Given the description of an element on the screen output the (x, y) to click on. 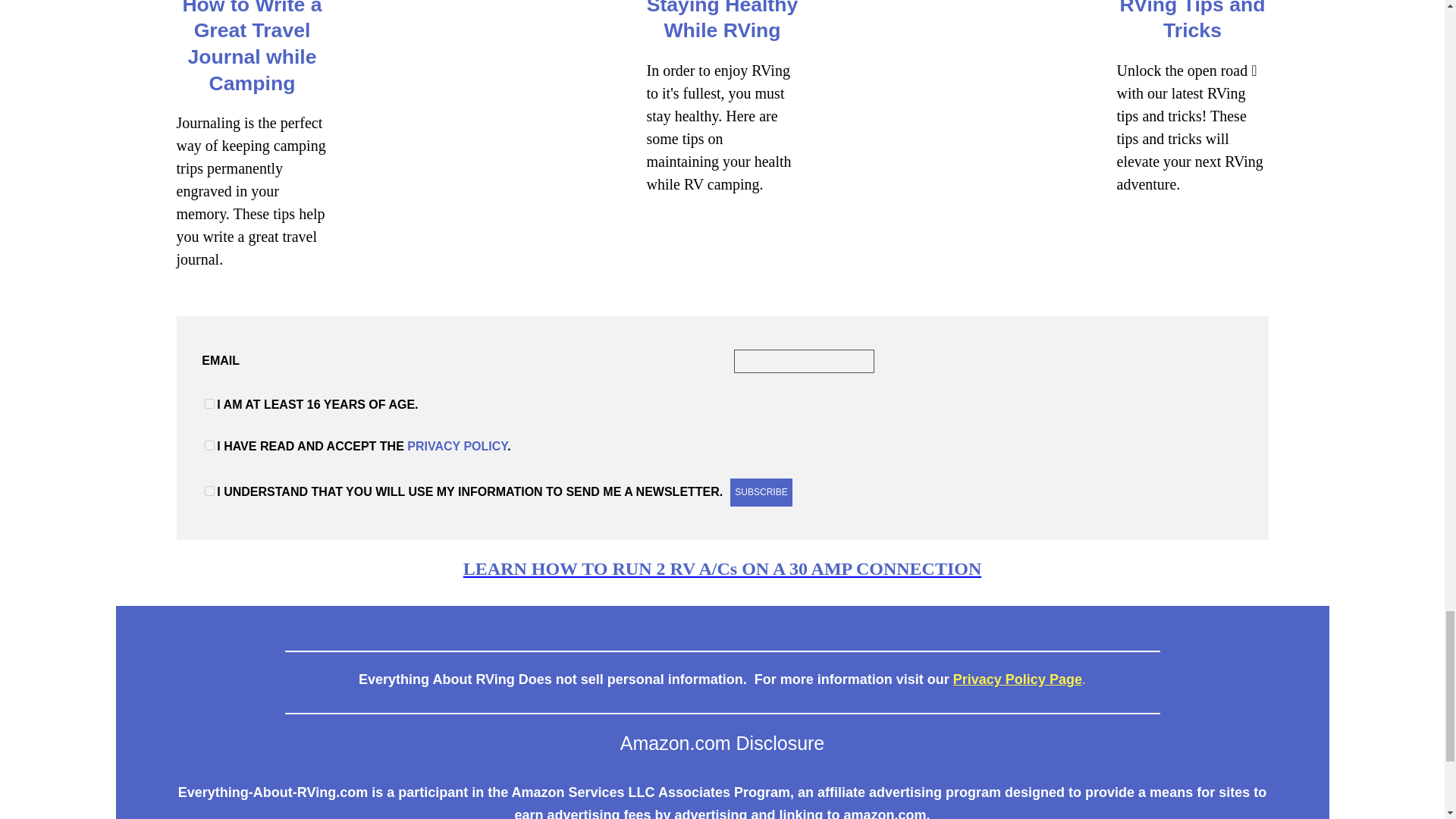
on (209, 491)
on (209, 403)
on (209, 445)
